Given the description of an element on the screen output the (x, y) to click on. 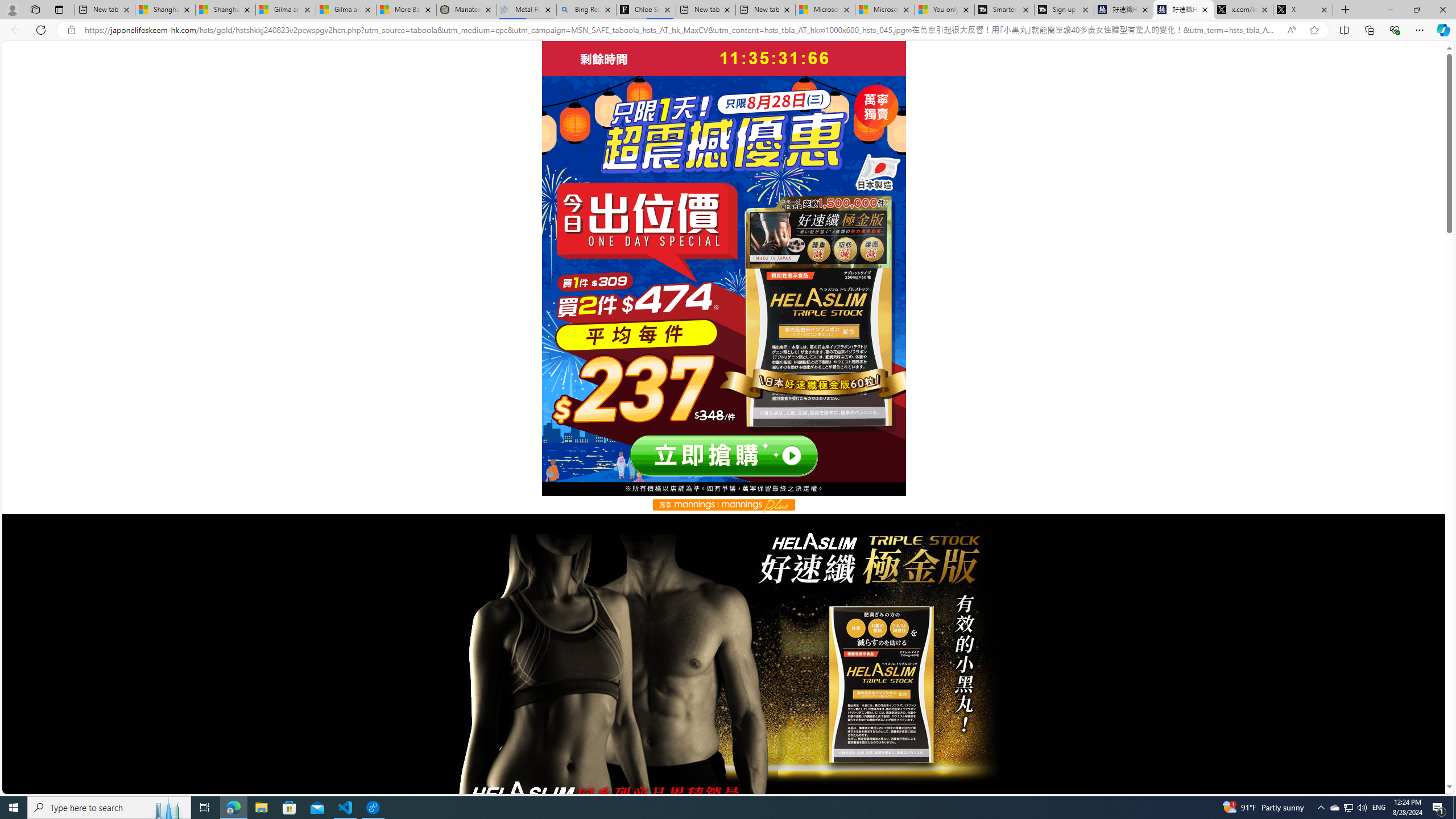
Bing Real Estate - Home sales and rental listings (586, 9)
Smarter Living | T3 (1004, 9)
Chloe Sorvino (646, 9)
Manatee Mortality Statistics | FWC (466, 9)
